Given the description of an element on the screen output the (x, y) to click on. 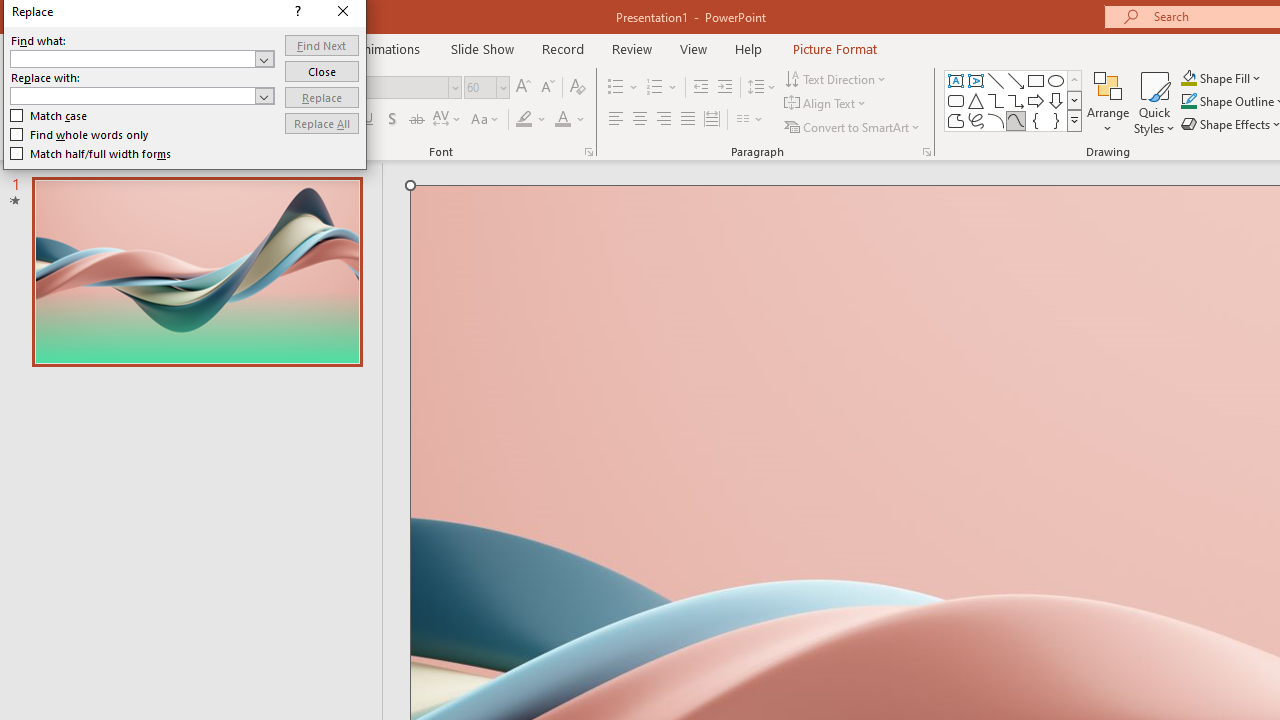
Slide (196, 271)
Freeform: Shape (955, 120)
Line Arrow (1016, 80)
Find whole words only (79, 134)
Shadow (392, 119)
Find what (132, 58)
Paragraph... (926, 151)
Text Highlight Color (531, 119)
Shape Fill (1221, 78)
Change Case (486, 119)
Text Box (955, 80)
Font Size (486, 87)
Shape Fill Orange, Accent 2 (1188, 78)
Arrange (1108, 102)
Oval (1055, 80)
